Given the description of an element on the screen output the (x, y) to click on. 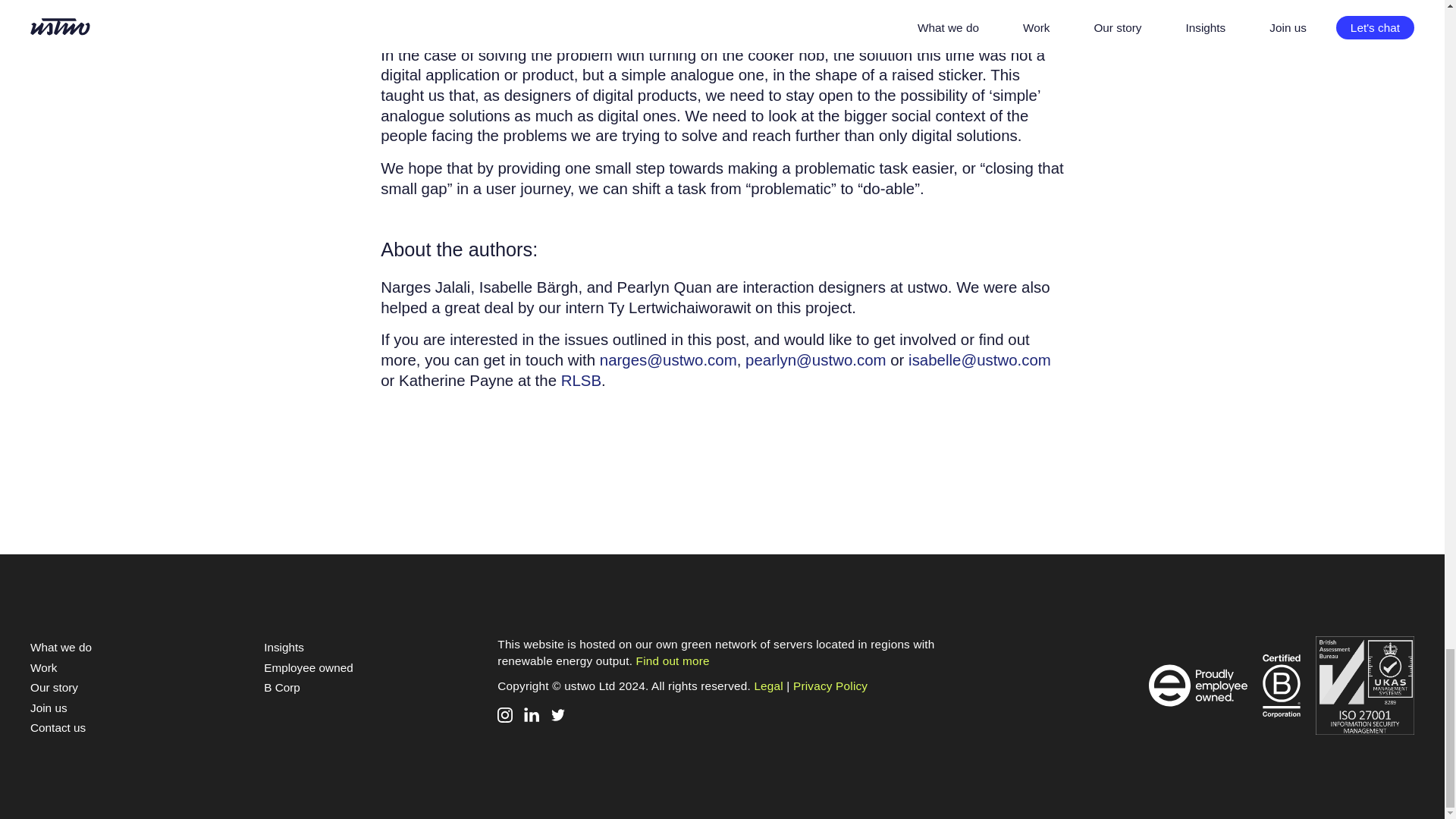
What we do (60, 646)
Our story (54, 686)
Privacy Policy (830, 685)
Linked In (531, 714)
Work (43, 667)
Join us (48, 707)
Instagram (504, 714)
Legal (768, 685)
B Corp (281, 686)
Find out more (673, 660)
Contact us (57, 727)
Insights (283, 646)
Employee owned (308, 667)
RLSB (580, 380)
